Given the description of an element on the screen output the (x, y) to click on. 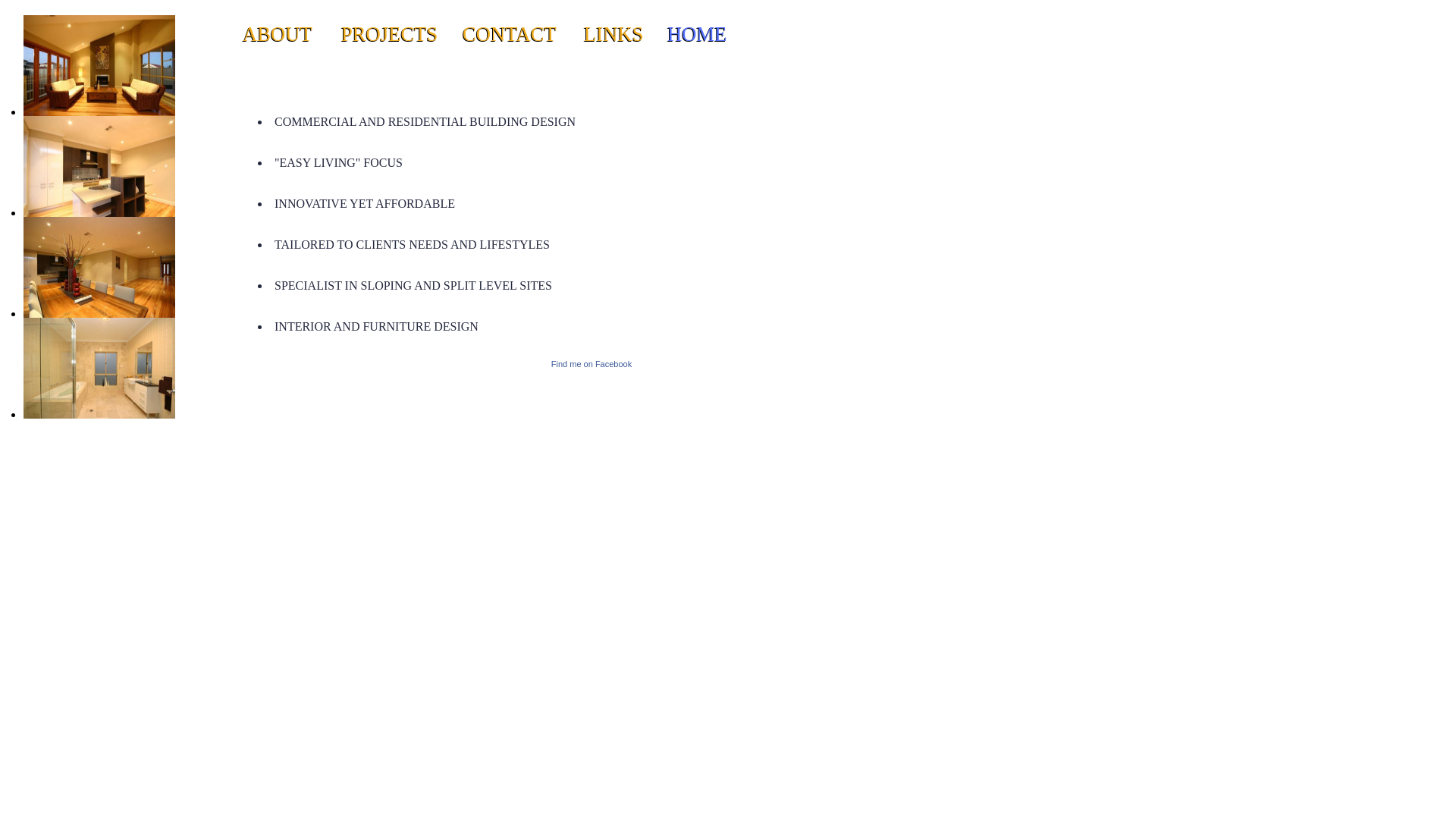
CONTACT Element type: text (509, 33)
LINKS Element type: text (613, 33)
Find me on Facebook Element type: text (591, 363)
PROJECTS Element type: text (389, 33)
ABOUT Element type: text (277, 33)
